Given the description of an element on the screen output the (x, y) to click on. 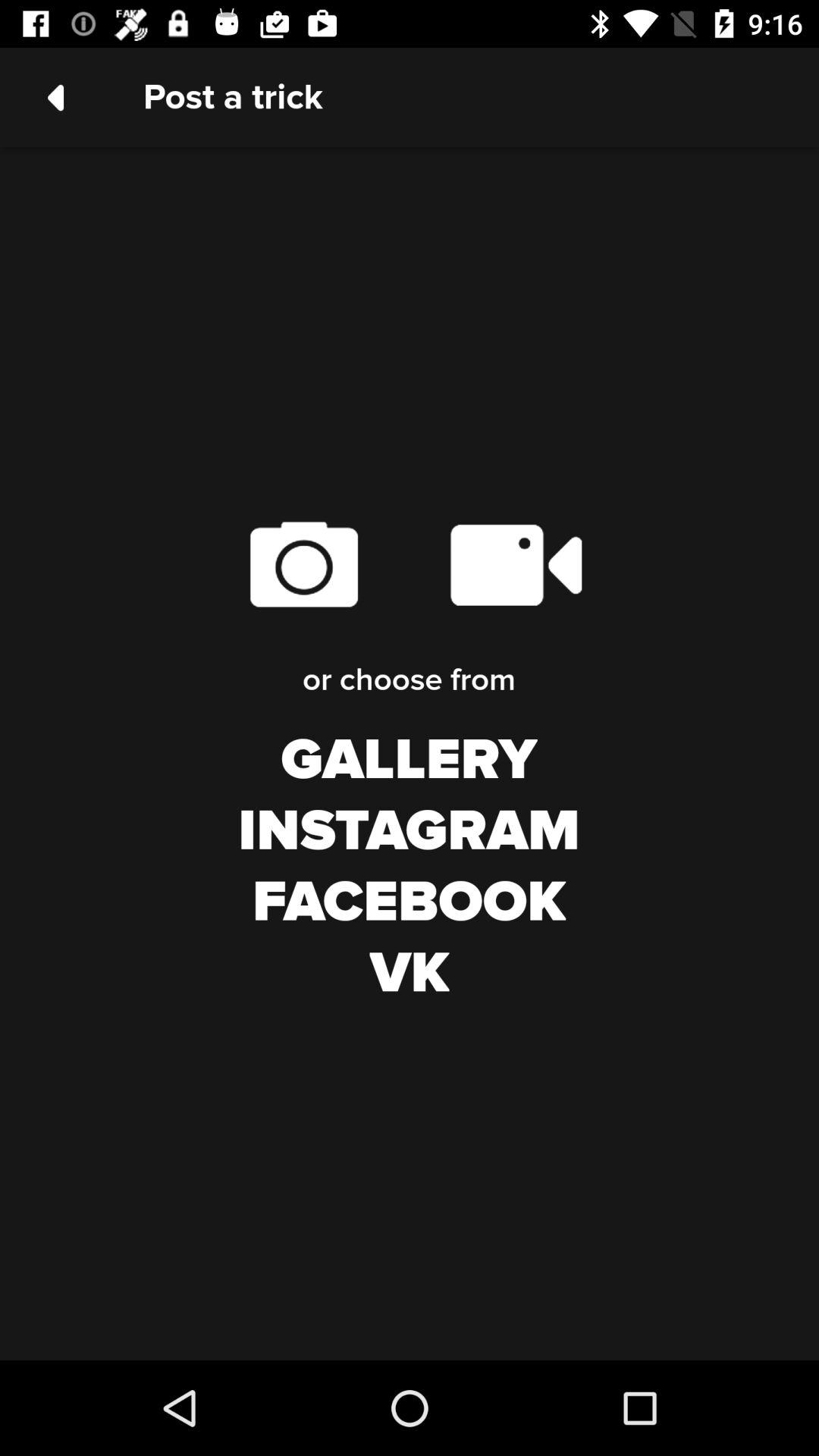
tap the icon below the facebook item (409, 973)
